Given the description of an element on the screen output the (x, y) to click on. 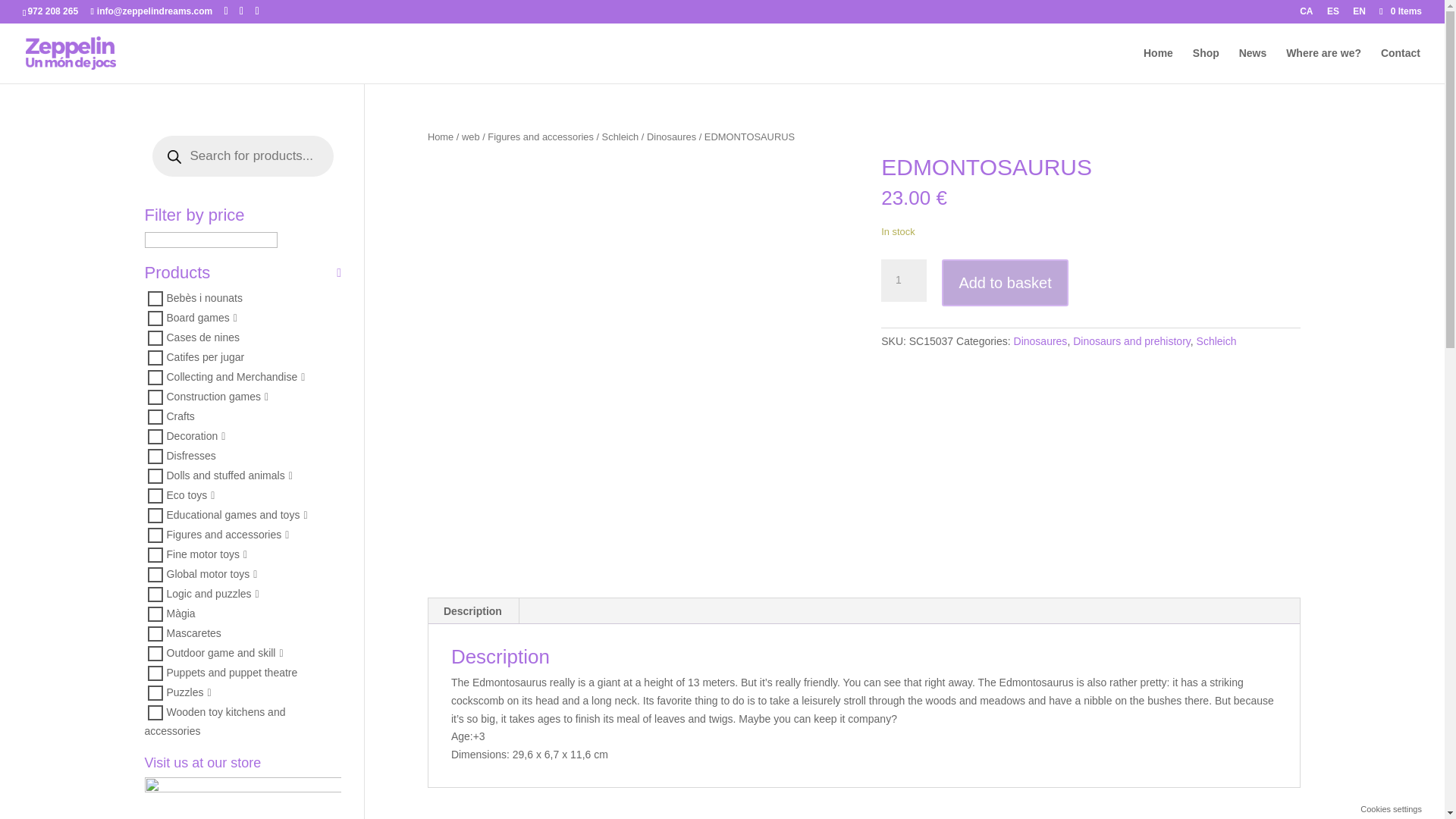
1188 (154, 594)
web (470, 136)
Contact (1400, 65)
Schleich (620, 136)
Dinosaures (670, 136)
6295 (154, 357)
6033 (154, 613)
Schleich (1216, 340)
Add to basket (1004, 283)
Figures and accessories (540, 136)
